Given the description of an element on the screen output the (x, y) to click on. 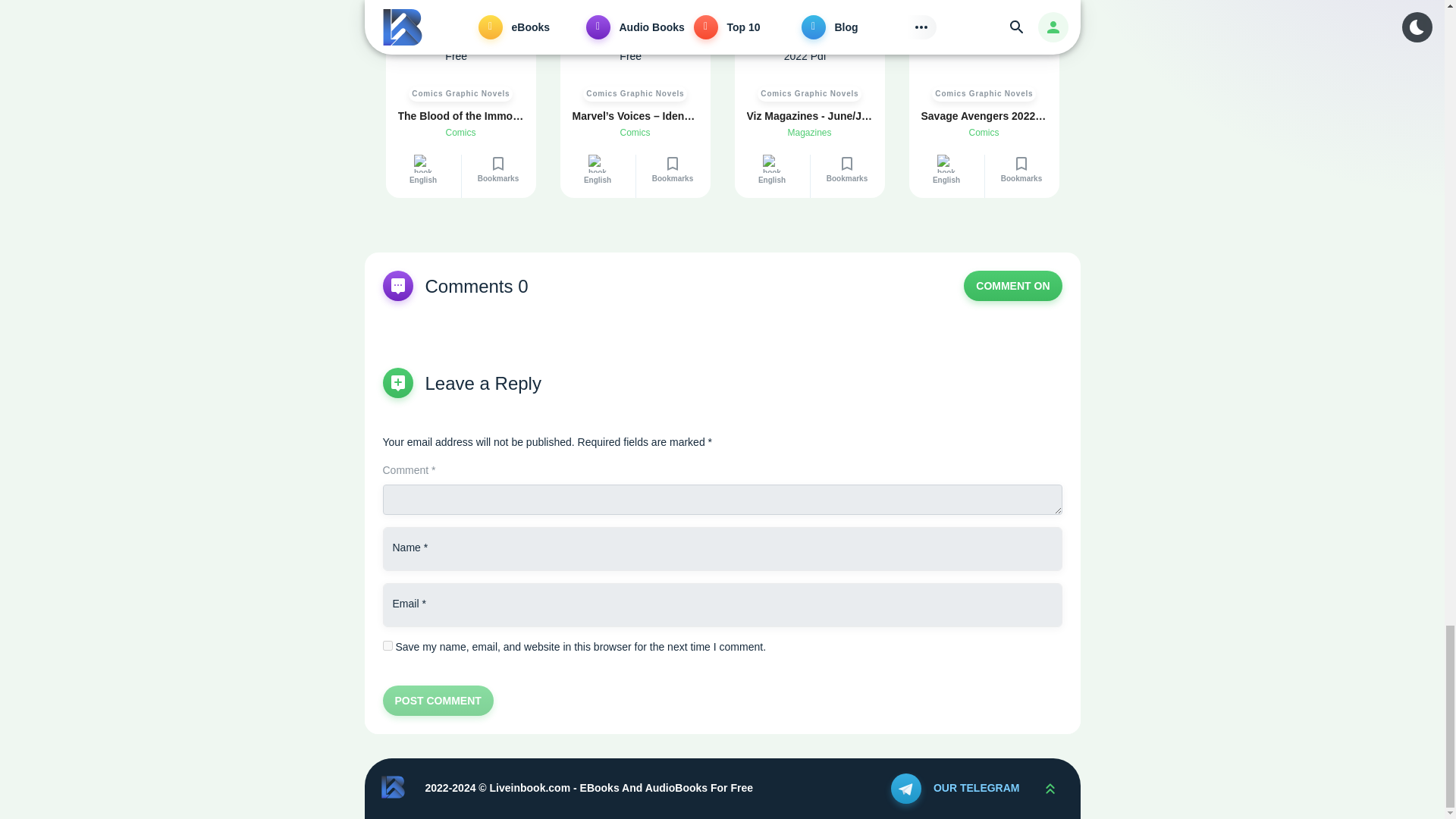
yes (386, 645)
Scrollup (1048, 788)
Liveinbook (393, 786)
